Given the description of an element on the screen output the (x, y) to click on. 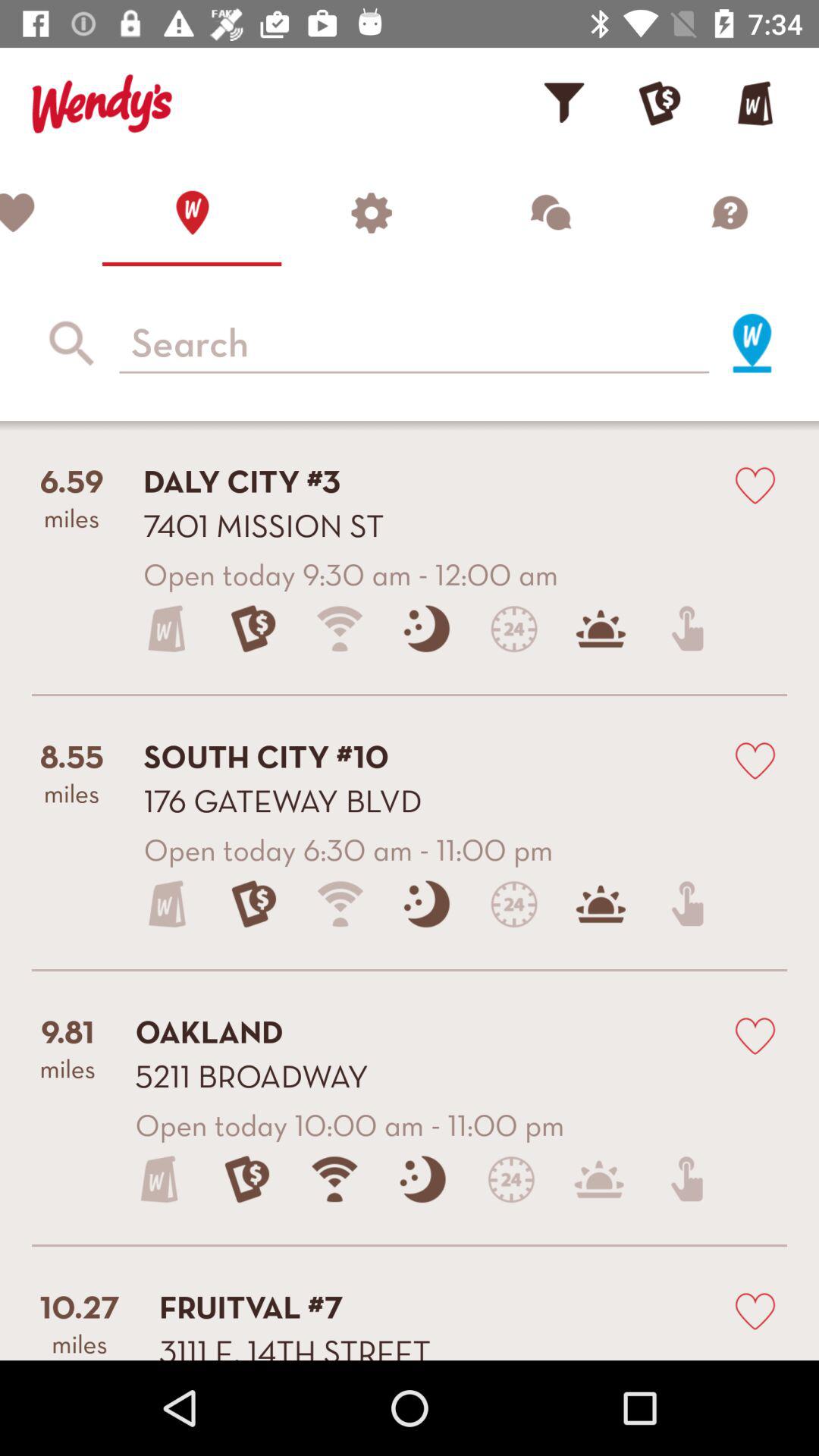
search it (752, 343)
